Given the description of an element on the screen output the (x, y) to click on. 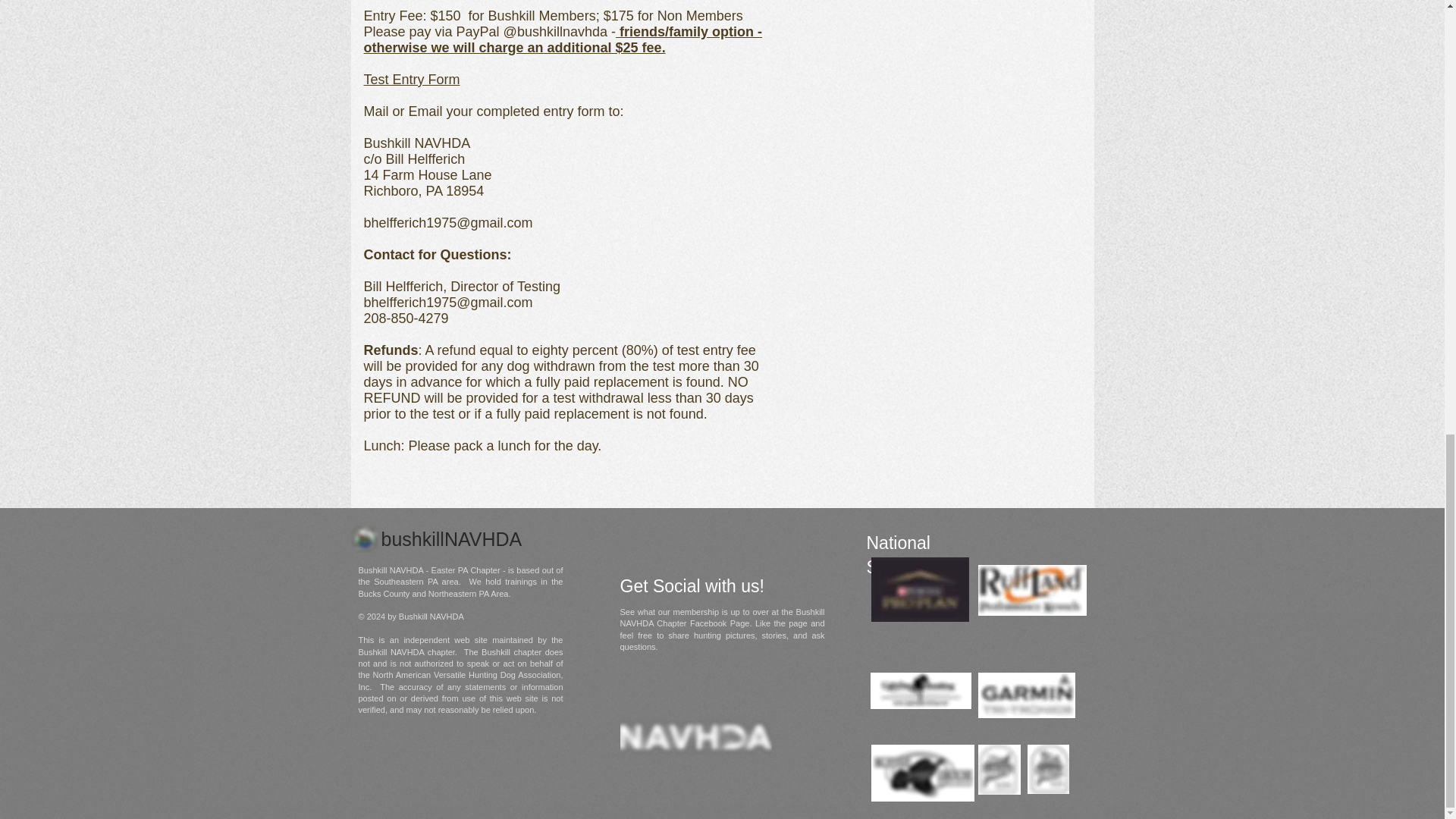
Test Entry Form (412, 79)
bushkillNAVHDA (450, 542)
